Given the description of an element on the screen output the (x, y) to click on. 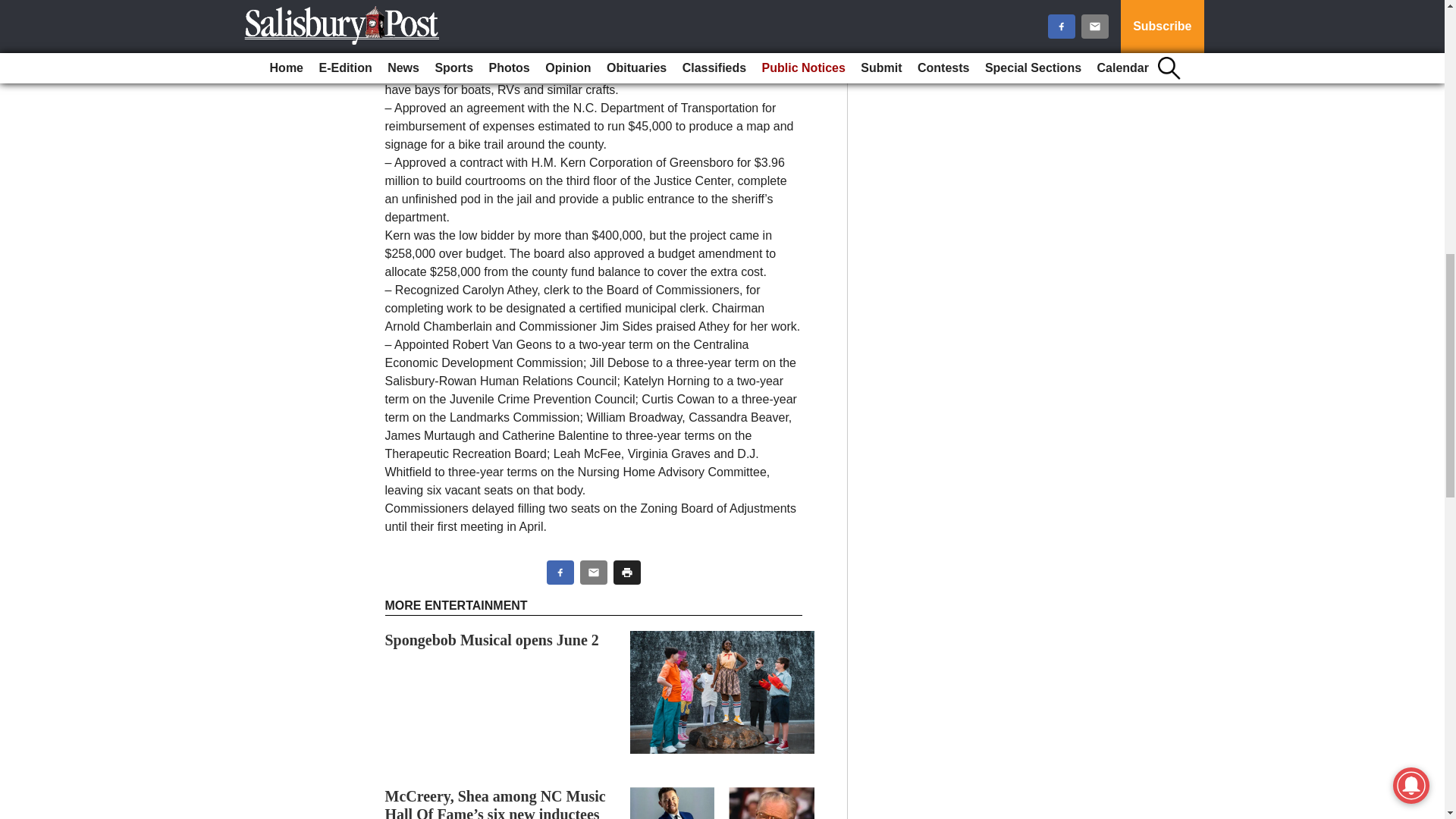
Spongebob Musical opens June 2 (491, 639)
